Given the description of an element on the screen output the (x, y) to click on. 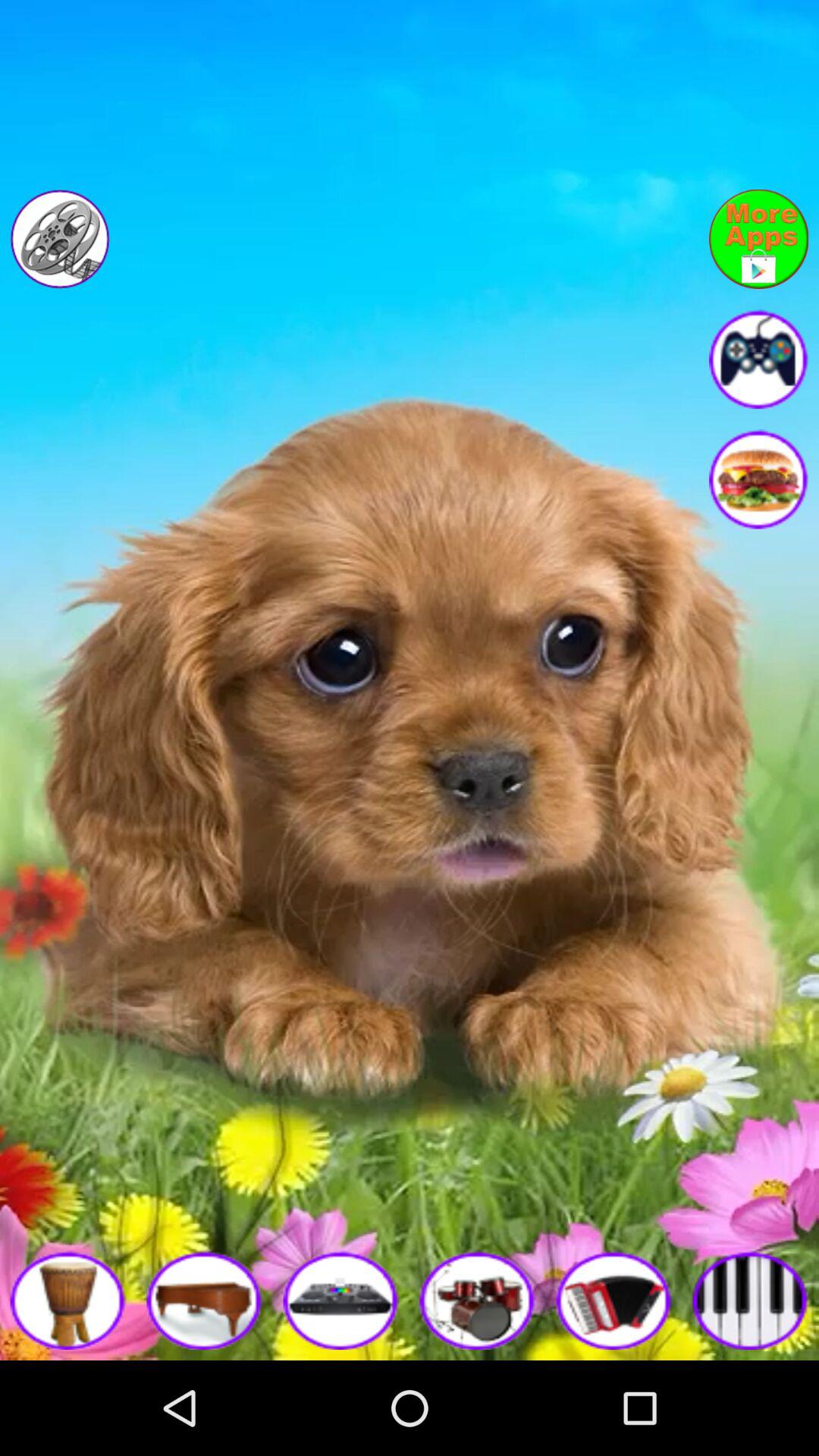
video player (59, 238)
